Given the description of an element on the screen output the (x, y) to click on. 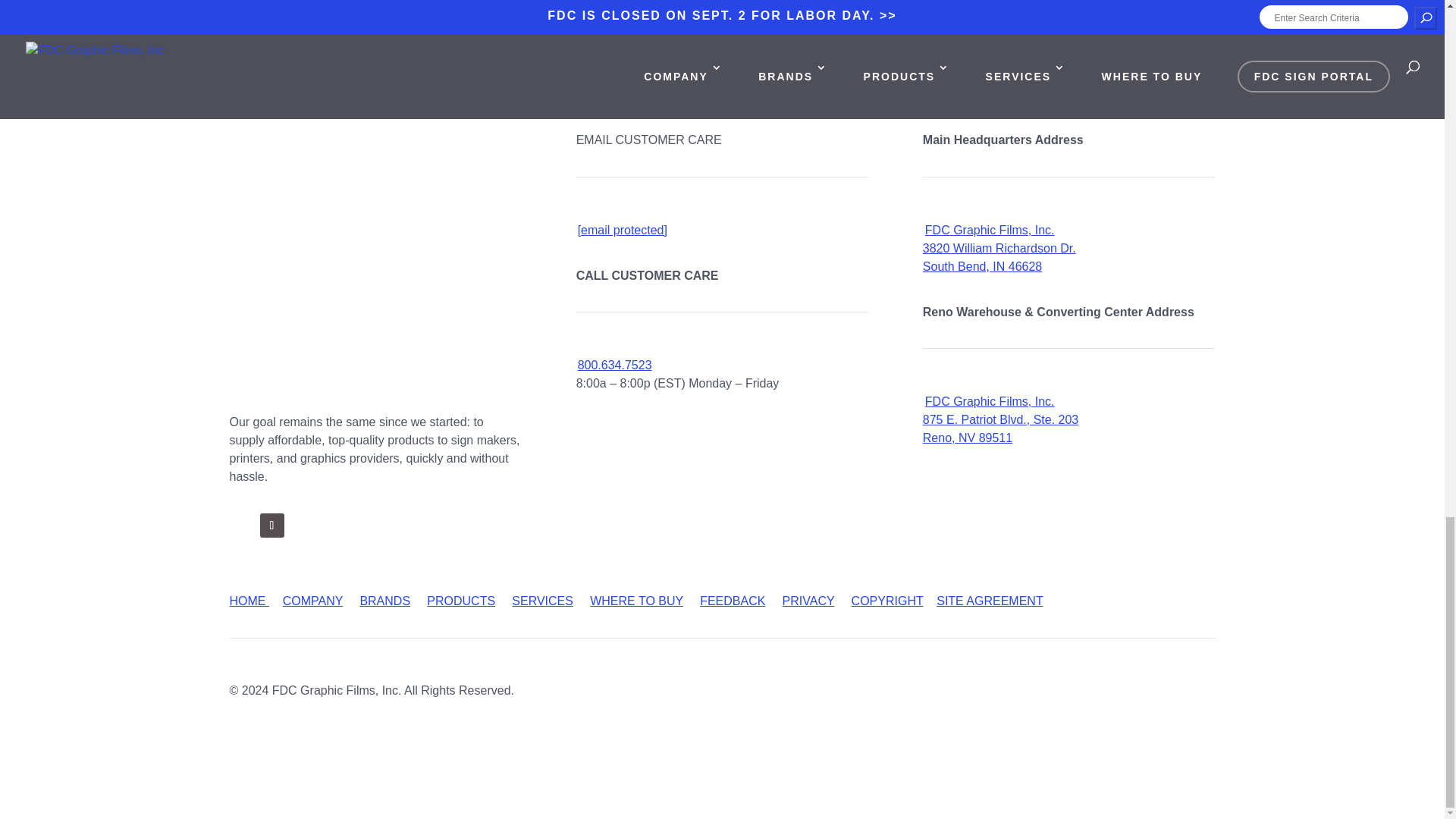
Follow on Instagram (301, 525)
Follow on Facebook (240, 525)
Follow on Youtube (362, 525)
Follow on LinkedIn (331, 525)
Follow on X (271, 525)
